Given the description of an element on the screen output the (x, y) to click on. 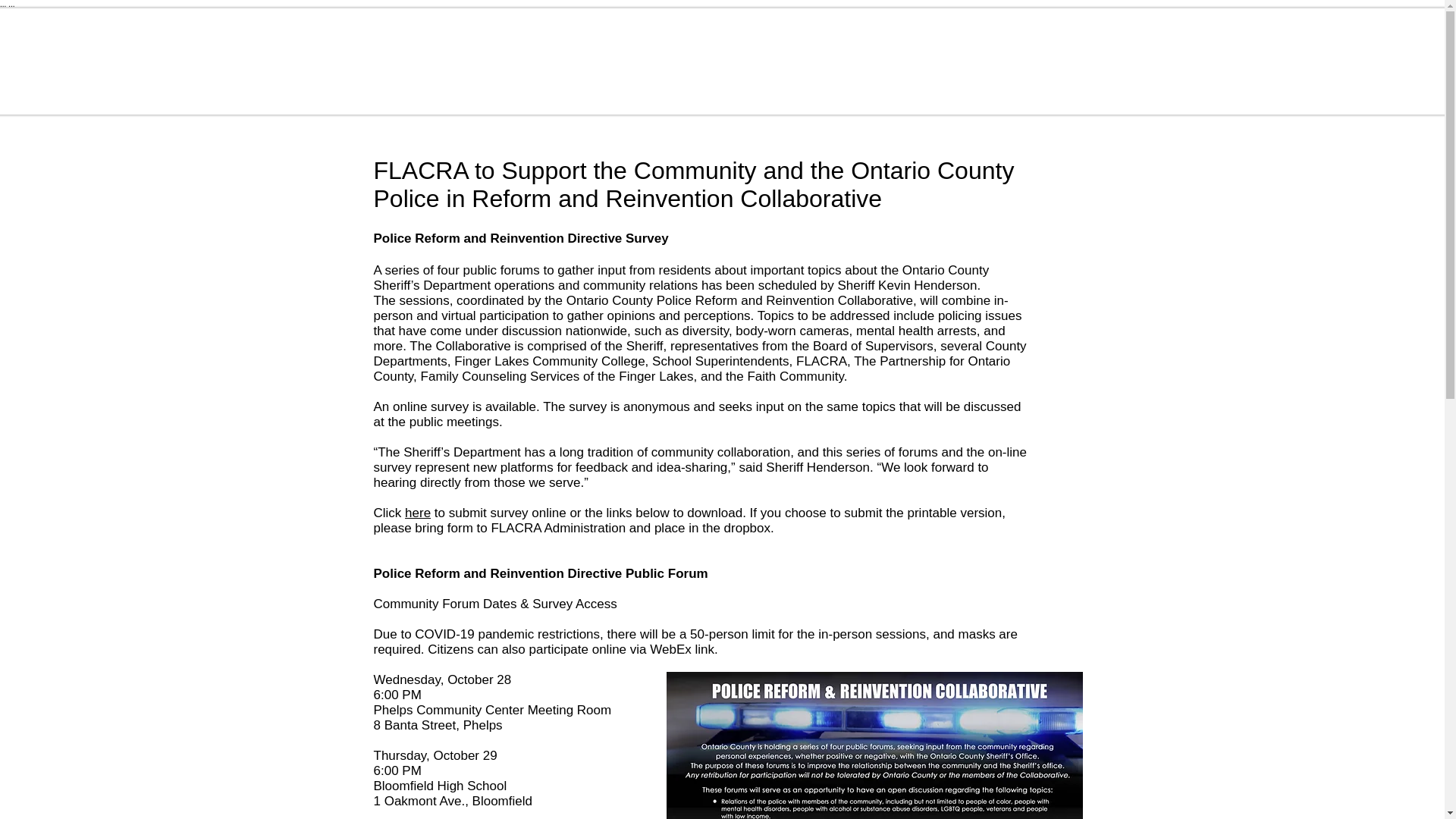
here (417, 512)
